Given the description of an element on the screen output the (x, y) to click on. 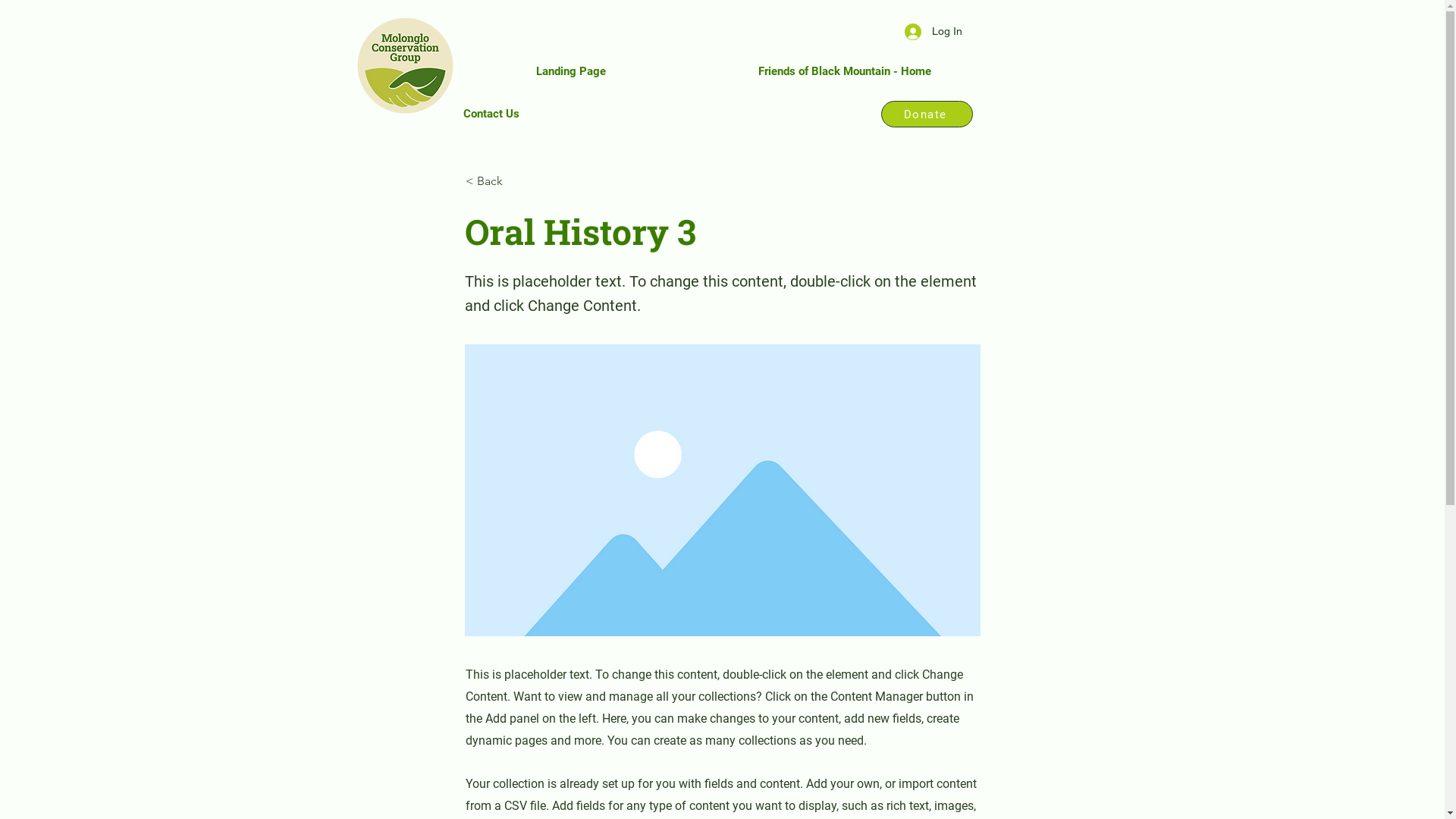
Friends of Black Mountain - Home Element type: text (845, 70)
Donate Element type: text (926, 113)
Log In Element type: text (932, 31)
Contact Us Element type: text (490, 113)
< Back Element type: text (515, 181)
Image-empty-state.png Element type: hover (721, 490)
Landing Page Element type: text (570, 70)
